Given the description of an element on the screen output the (x, y) to click on. 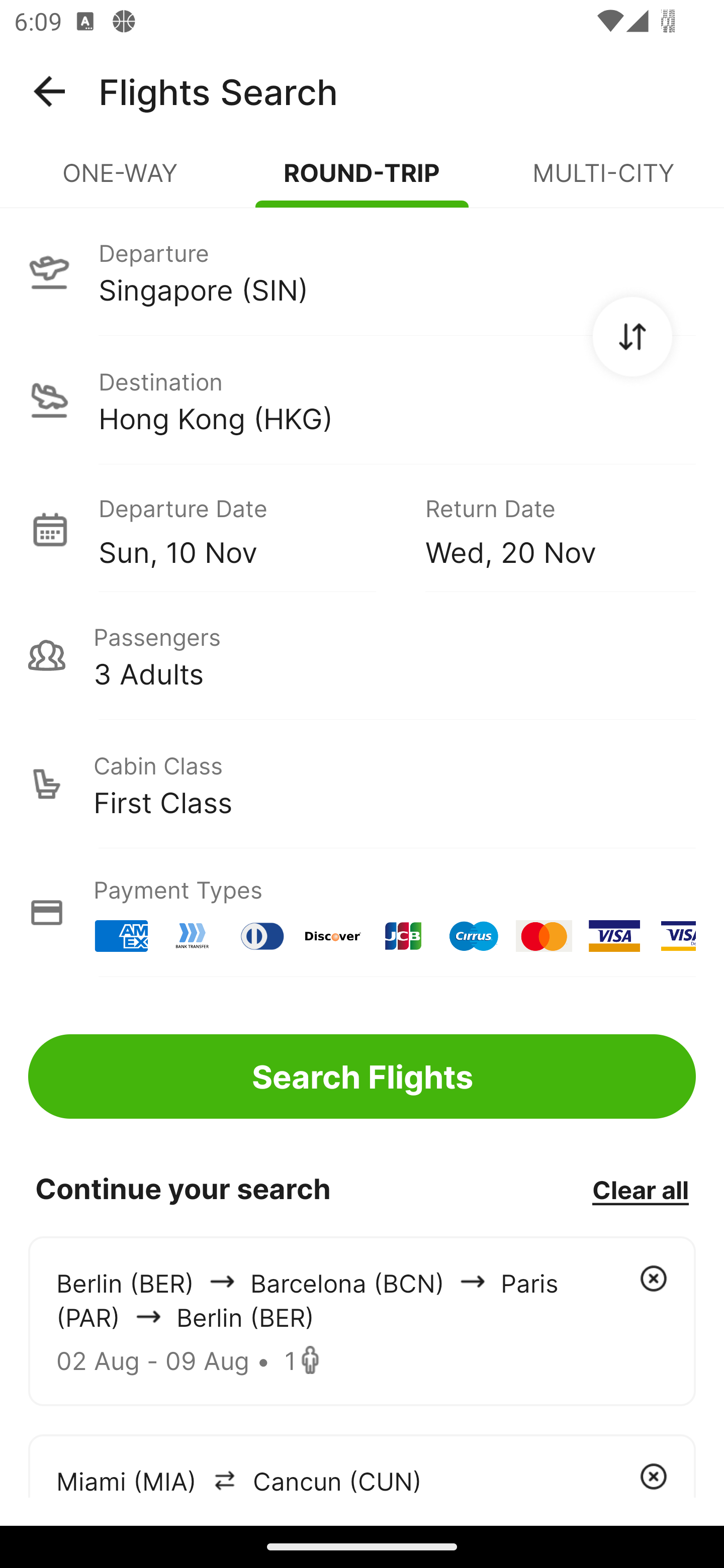
ONE-WAY (120, 180)
ROUND-TRIP (361, 180)
MULTI-CITY (603, 180)
Departure Singapore (SIN) (362, 270)
Destination Hong Kong (HKG) (362, 400)
Departure Date Sun, 10 Nov (247, 528)
Return Date Wed, 20 Nov (546, 528)
Passengers 3 Adults (362, 655)
Cabin Class First Class (362, 783)
Payment Types (362, 912)
Search Flights (361, 1075)
Clear all (640, 1189)
Miami (MIA)  arrowIcon  Cancun (CUN) (361, 1465)
